Given the description of an element on the screen output the (x, y) to click on. 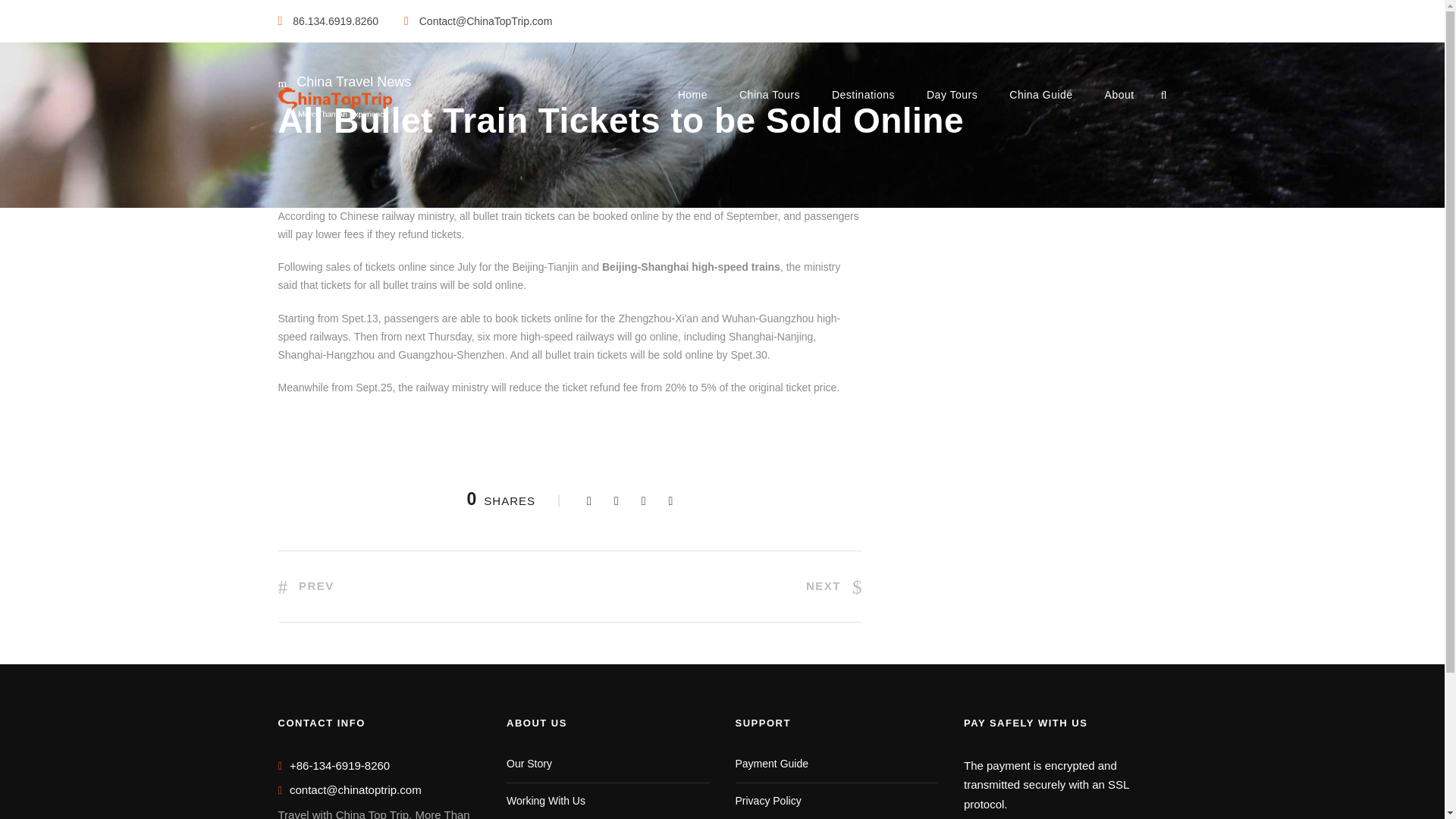
Destinations (863, 102)
Day Tours (951, 102)
logo-china-top-trip (334, 102)
China Tours (769, 102)
